Given the description of an element on the screen output the (x, y) to click on. 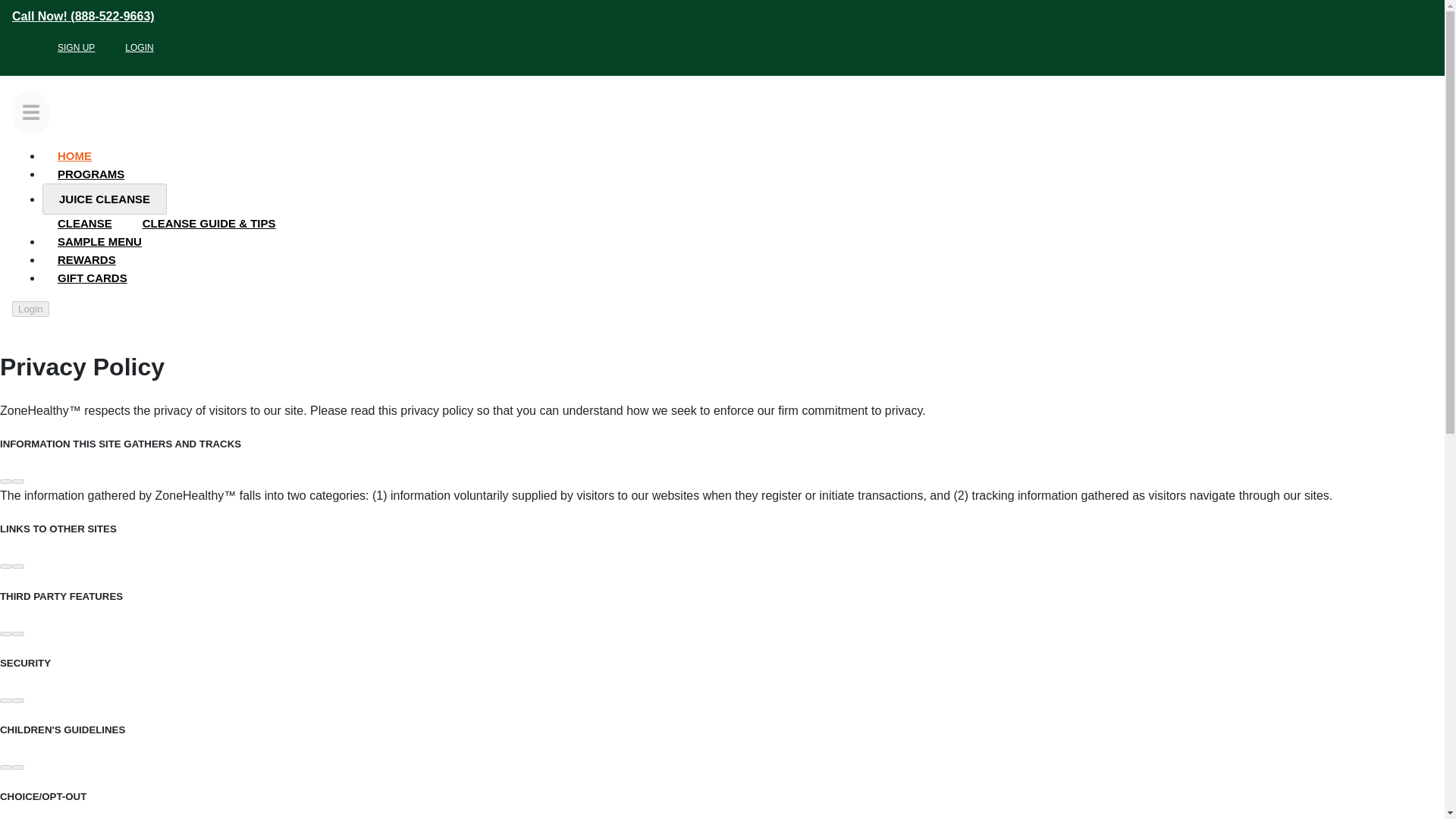
PROGRAMS (90, 173)
HOME (74, 155)
REWARDS (86, 259)
SIGN UP (76, 47)
Login (30, 308)
SAMPLE MENU (99, 241)
JUICE CLEANSE (104, 198)
CLEANSE (85, 223)
LOGIN (139, 47)
GIFT CARDS (92, 277)
